Given the description of an element on the screen output the (x, y) to click on. 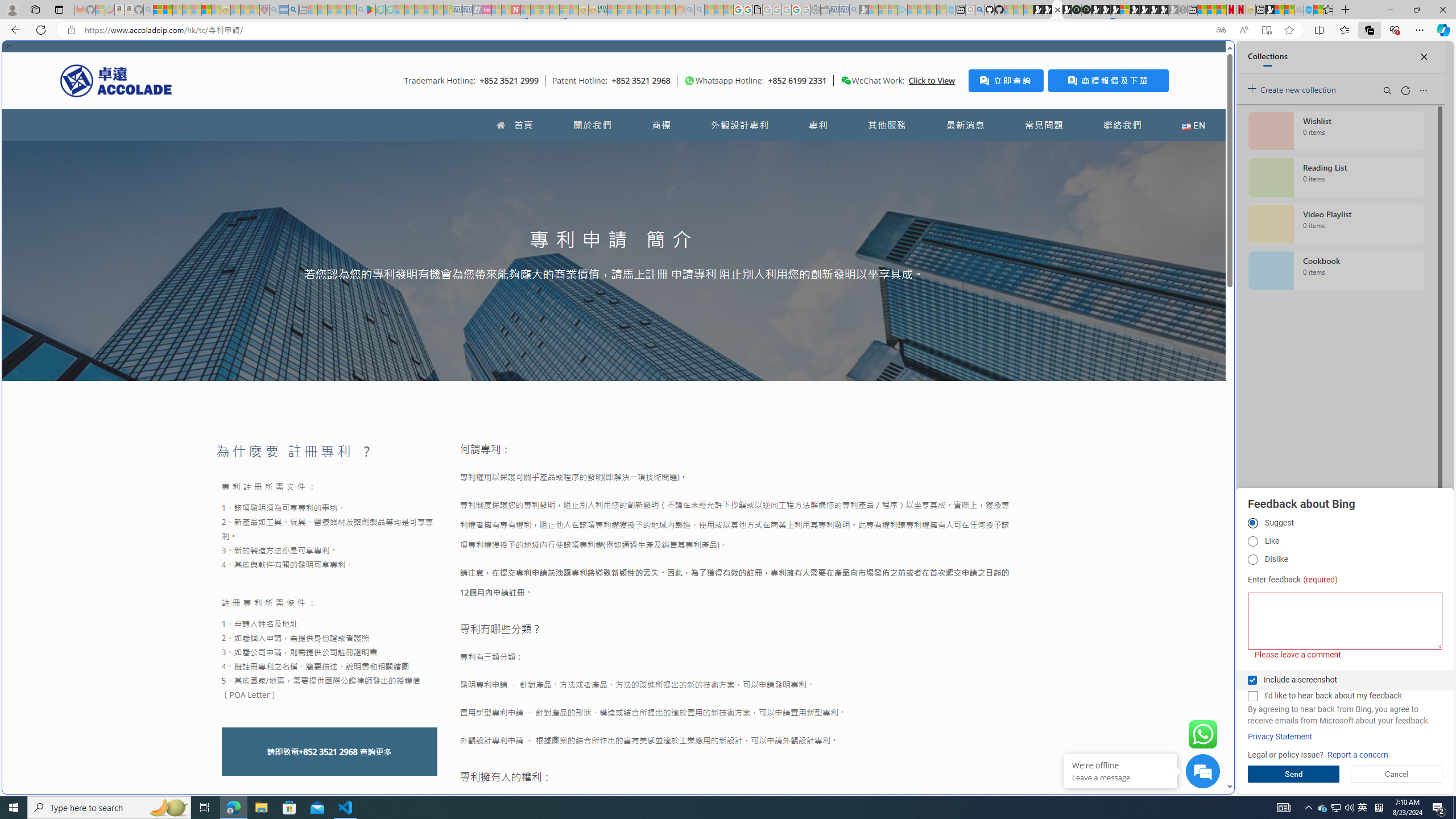
I'd like to hear back about my feedback (1252, 696)
github - Search (979, 9)
The Weather Channel - MSN - Sleeping (177, 9)
Search or enter web address (922, 108)
Send (1293, 773)
